Given the description of an element on the screen output the (x, y) to click on. 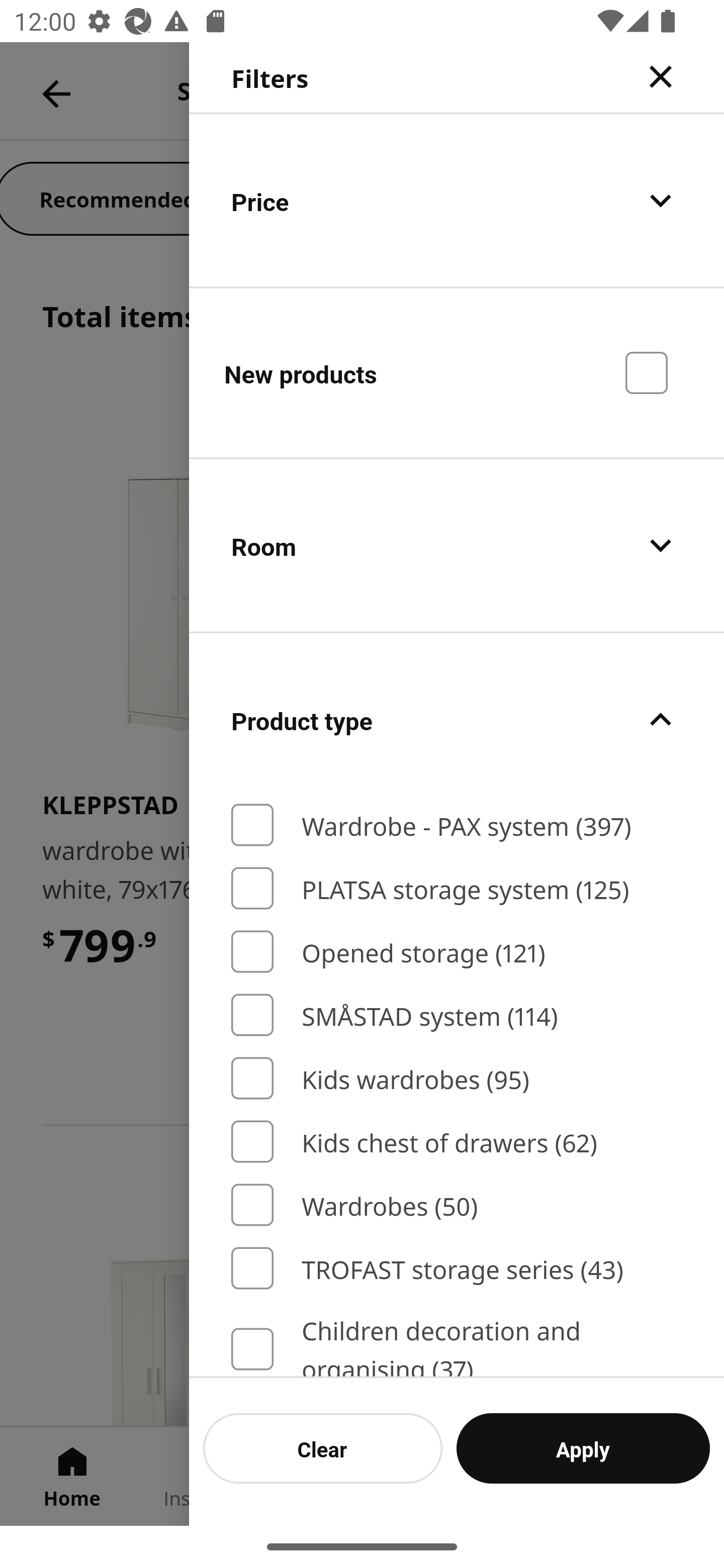
Price (456, 200)
New products (456, 371)
Room (456, 545)
Product type (456, 719)
Wardrobe - PAX system (397) (456, 825)
PLATSA storage system (125) (456, 888)
Opened storage (121) (456, 952)
SMÅSTAD system (114) (456, 1015)
Kids wardrobes (95) (456, 1077)
Kids chest of drawers (62) (456, 1142)
Wardrobes (50) (456, 1204)
TROFAST storage series (43) (456, 1268)
Children decoration and organising (37) (456, 1343)
Clear (322, 1447)
Apply (583, 1447)
